Given the description of an element on the screen output the (x, y) to click on. 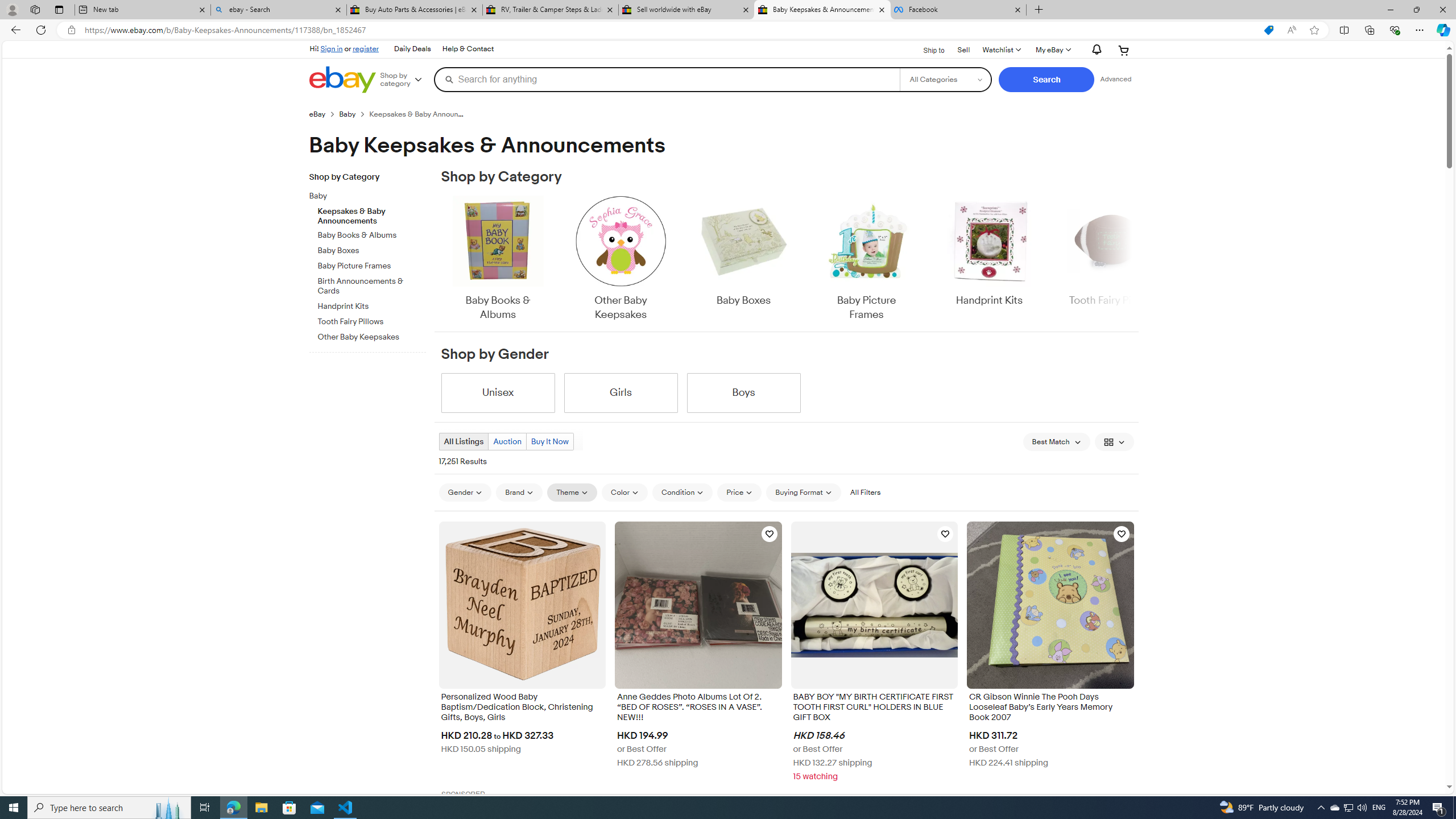
Keepsakes & Baby Announcements (371, 214)
Buying Format (803, 492)
Buy Auto Parts & Accessories | eBay (414, 9)
Select a category for search (945, 78)
WatchlistExpand Watch List (1000, 49)
Baby (371, 194)
Unisex (497, 392)
Tooth Fairy Pillows (371, 321)
Birth Announcements & Cards (371, 283)
Baby Picture Frames (866, 258)
